Given the description of an element on the screen output the (x, y) to click on. 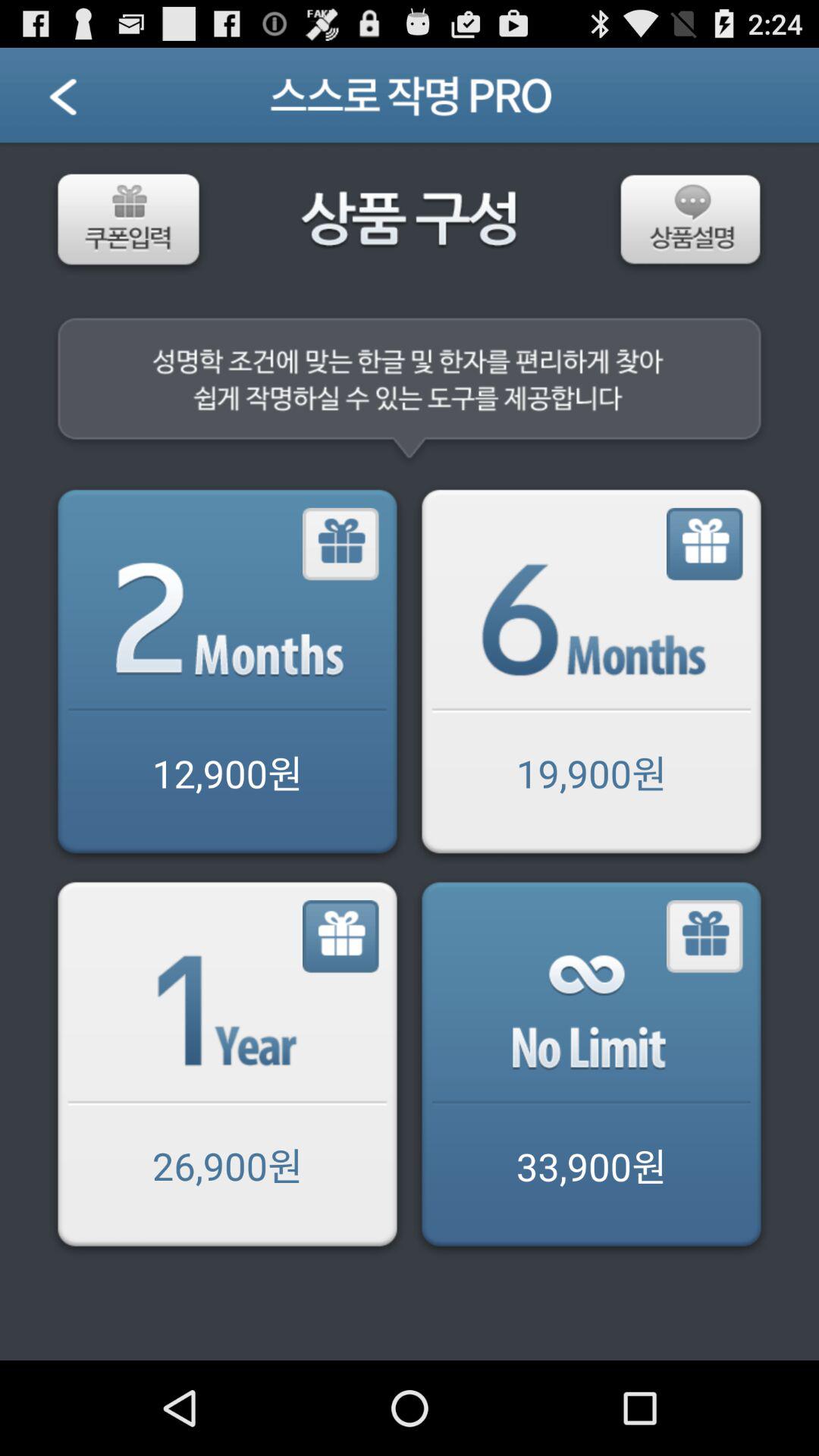
choose gift (704, 544)
